Given the description of an element on the screen output the (x, y) to click on. 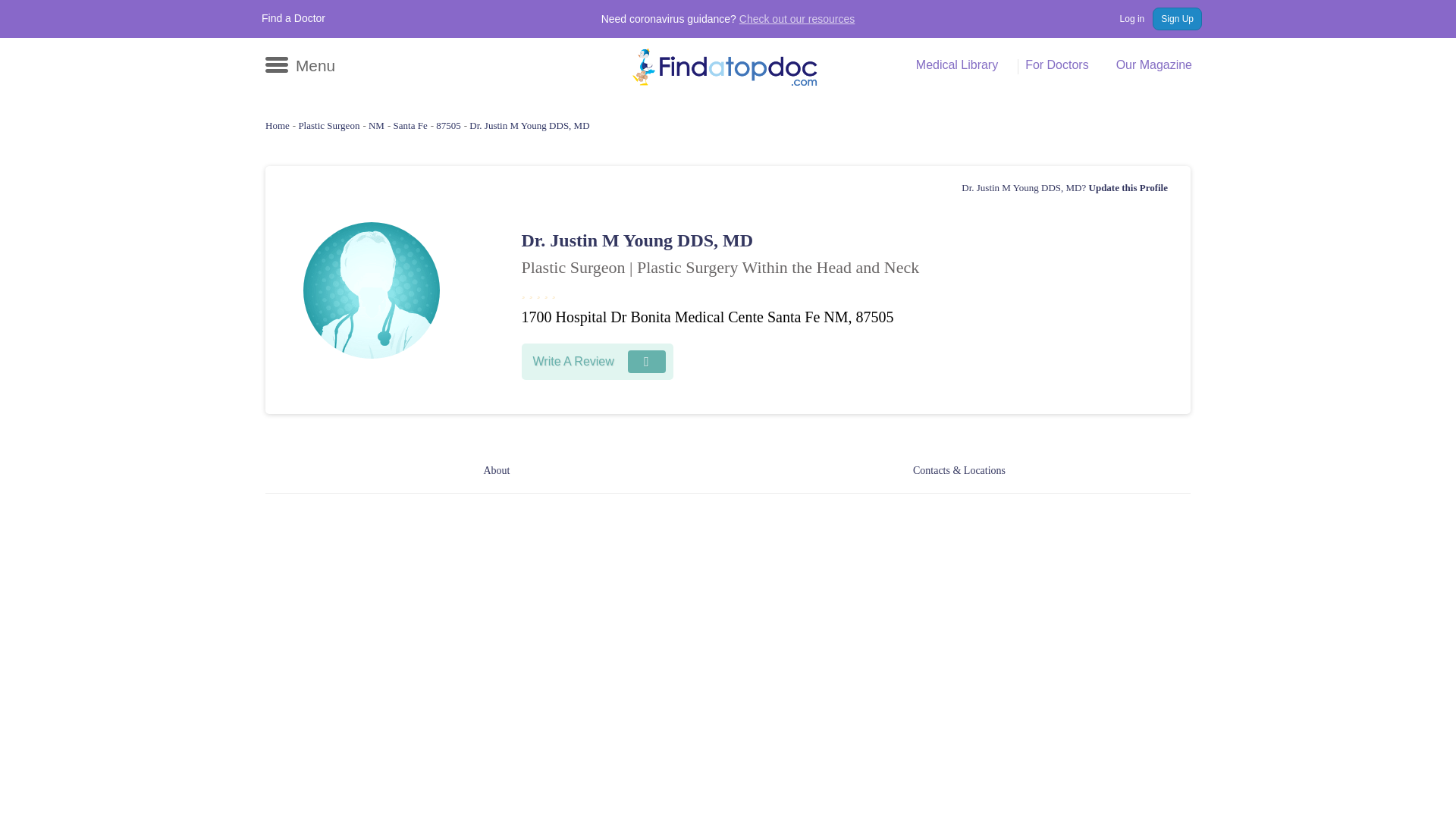
Sign Up (1177, 18)
Log in (1124, 18)
Find a Doctor (293, 17)
Sign Up (1177, 18)
Check out our resources (797, 19)
Menu (299, 65)
Log in (1124, 18)
